Given the description of an element on the screen output the (x, y) to click on. 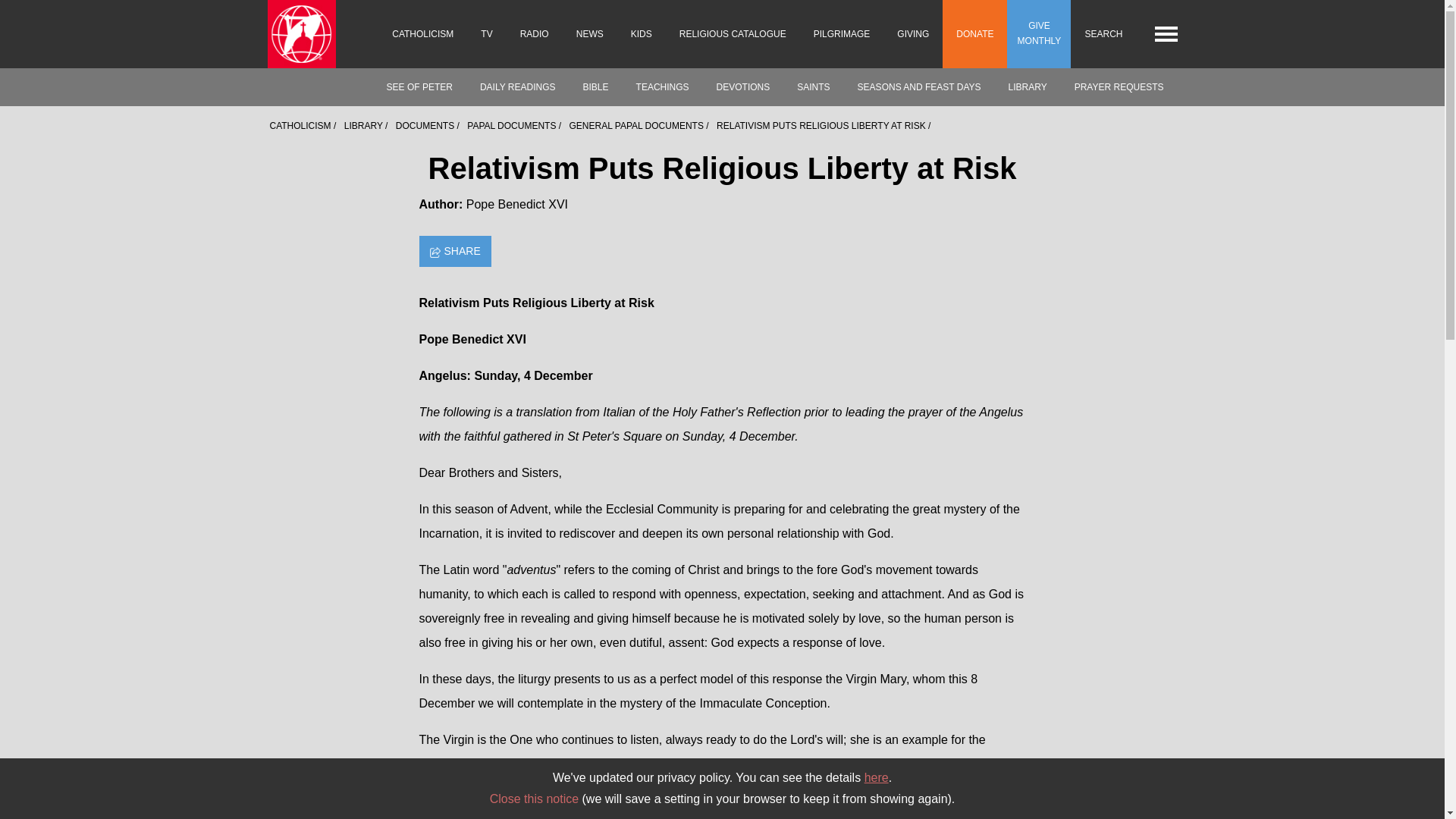
RELIGIOUS CATALOGUE (732, 33)
GIVING (912, 33)
TV (486, 33)
PILGRIMAGE (841, 33)
GIVE MONTHLY (1038, 33)
CATHOLICISM (422, 33)
DONATE (974, 33)
KIDS (641, 33)
RADIO (534, 33)
NEWS (589, 33)
SEARCH (1102, 33)
